Given the description of an element on the screen output the (x, y) to click on. 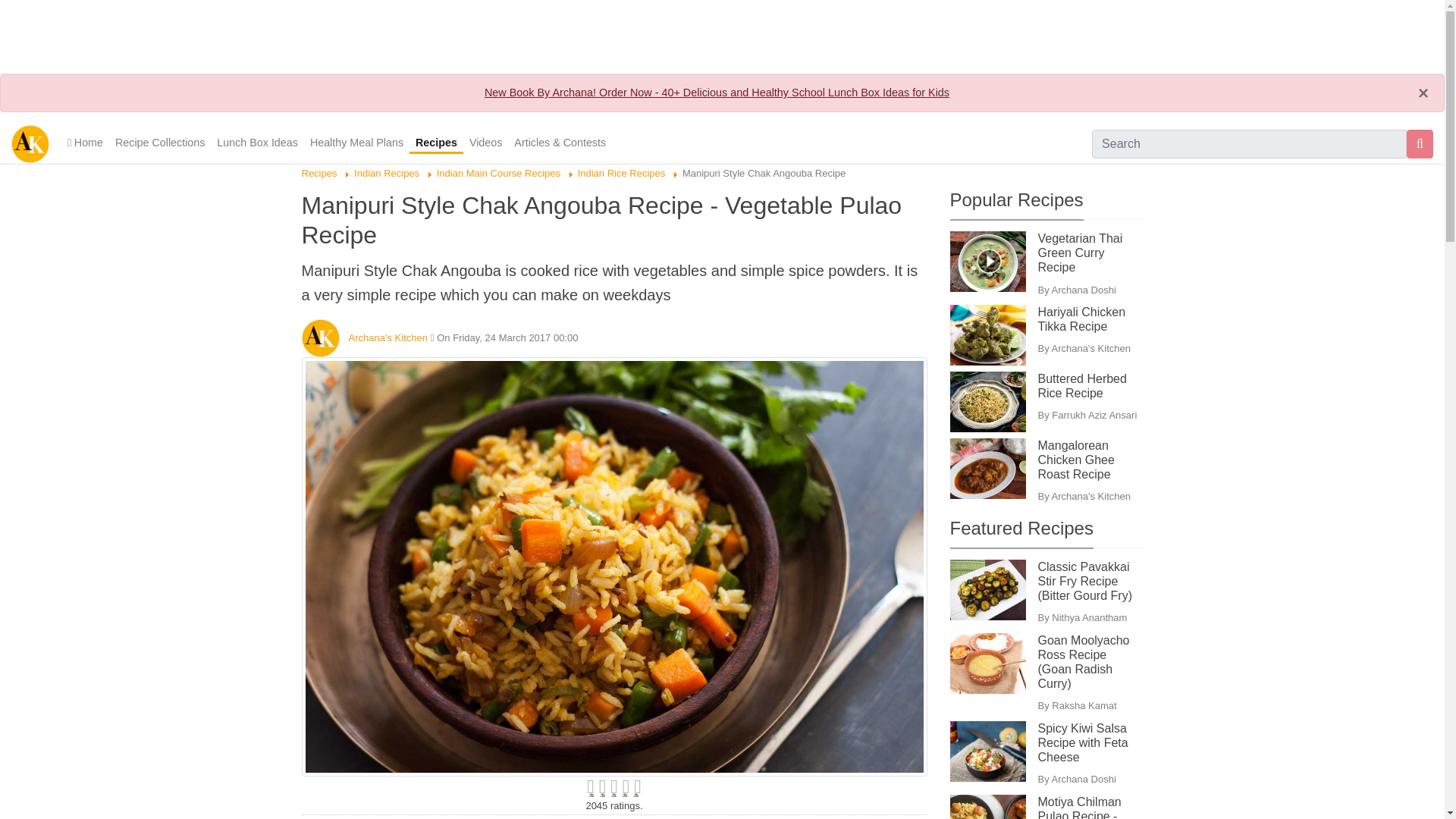
Videos (485, 142)
Indian Recipes (386, 173)
Healthy Meal Plans (356, 142)
Five Stars (614, 786)
Recipe Collections (160, 142)
 Home (85, 142)
Lunch Box Ideas (257, 142)
Indian Main Course Recipes (498, 173)
Recipes (436, 143)
Recipes (319, 173)
Indian Rice Recipes (621, 173)
Archana's Kitchen (388, 337)
View Recipes by Archana's Kitchen (388, 337)
